Given the description of an element on the screen output the (x, y) to click on. 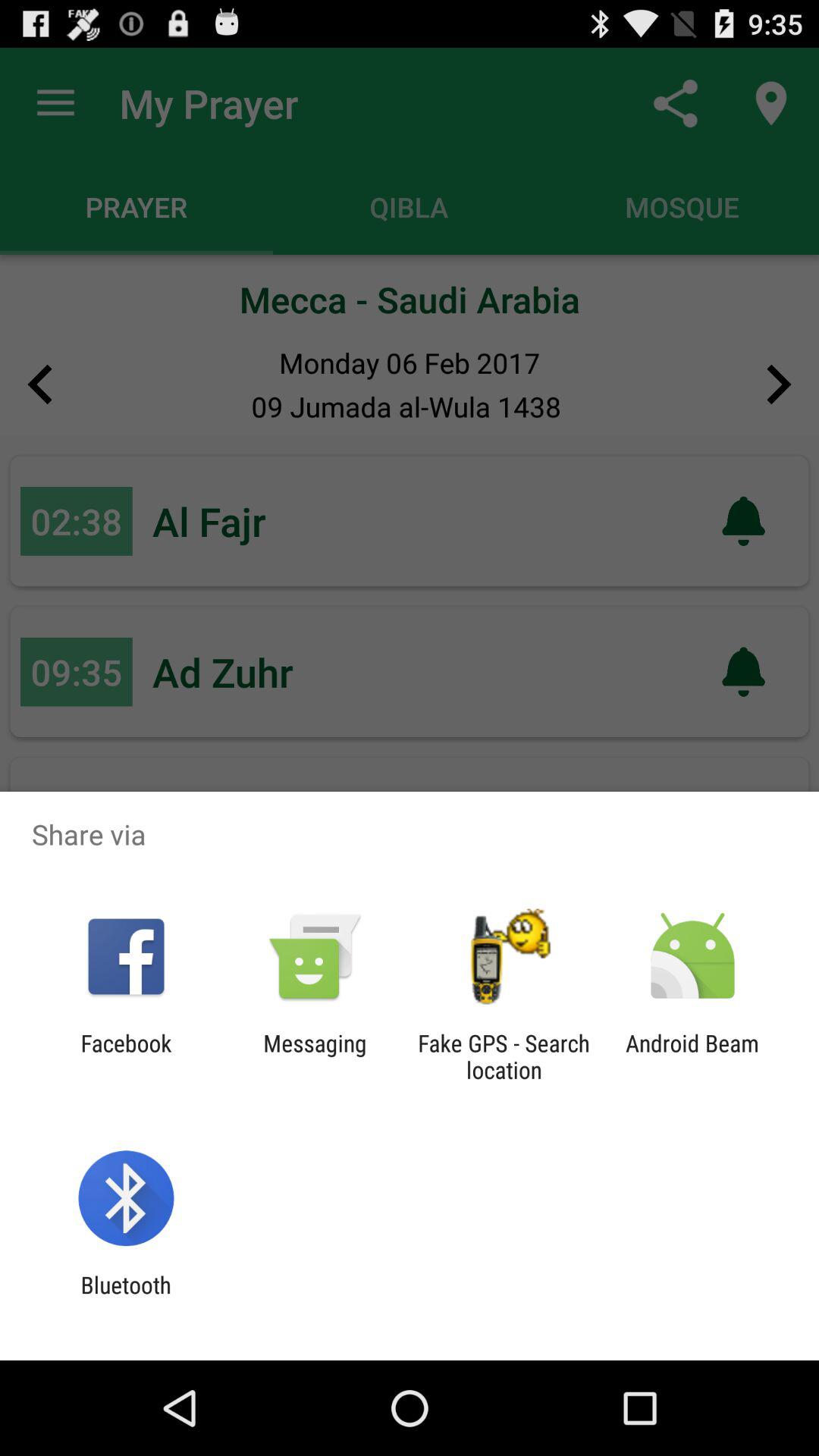
select the icon to the left of the fake gps search app (314, 1056)
